Given the description of an element on the screen output the (x, y) to click on. 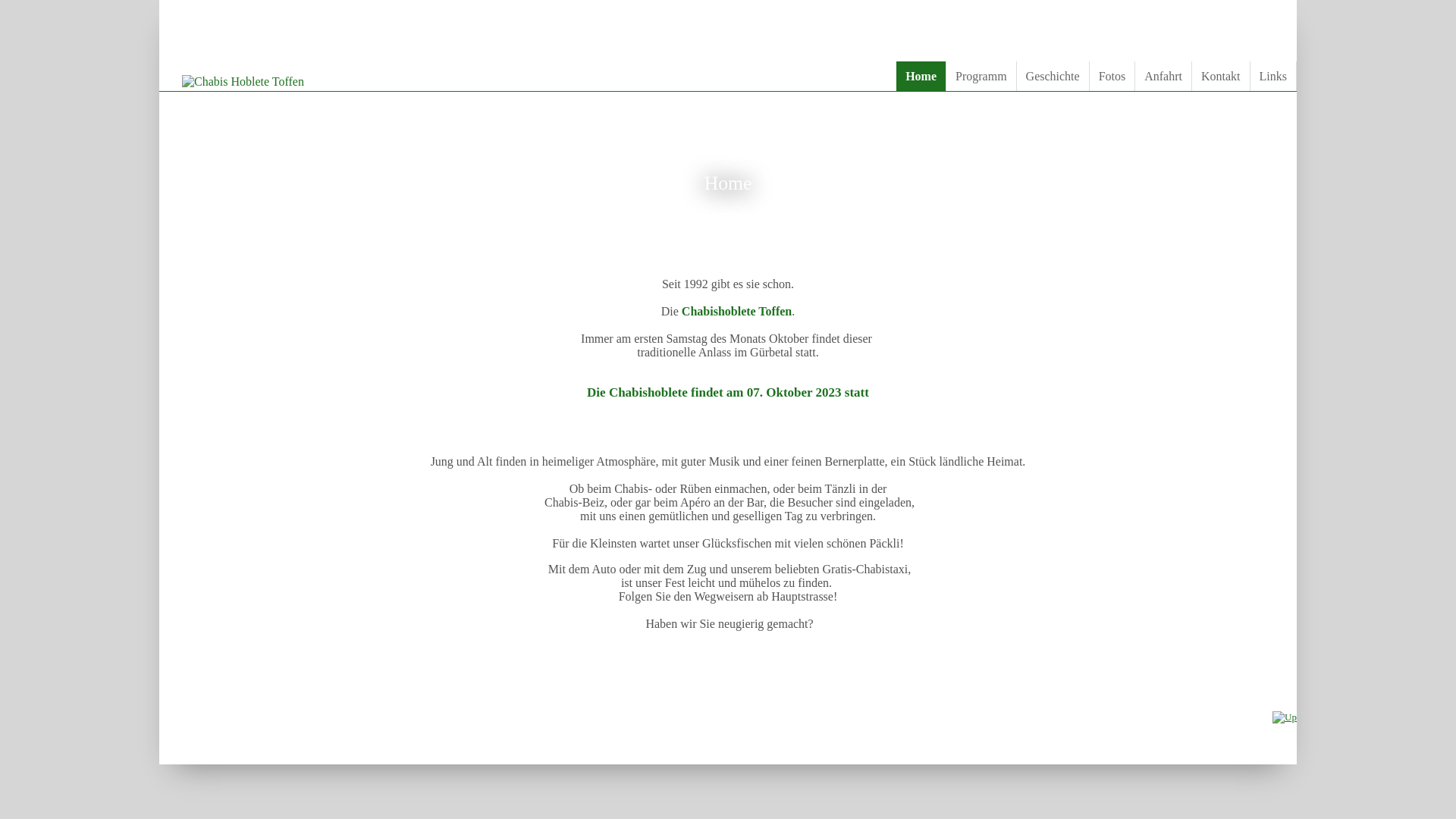
Home Element type: text (921, 76)
Kontakt Element type: text (1221, 76)
Go to top Element type: hover (1284, 717)
Geschichte Element type: text (1052, 76)
Programm Element type: text (981, 76)
Anfahrt Element type: text (1163, 76)
Fotos Element type: text (1112, 76)
Links Element type: text (1273, 76)
